Given the description of an element on the screen output the (x, y) to click on. 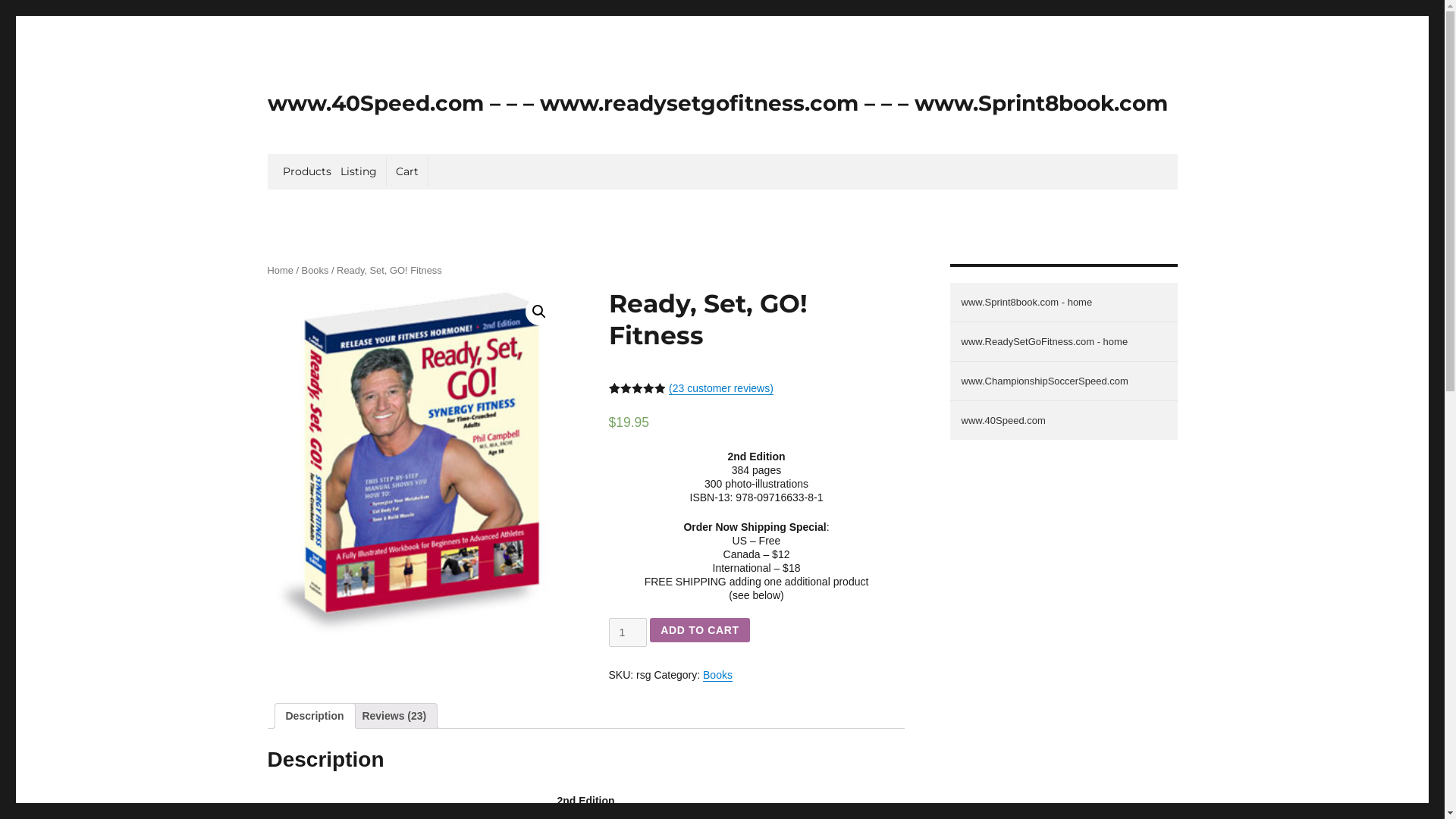
Books Element type: text (717, 674)
A.RSG_cover_web Element type: hover (414, 462)
Books Element type: text (315, 270)
(23 customer reviews) Element type: text (720, 388)
www.Sprint8book.com - home Element type: text (1062, 302)
Cart Element type: text (407, 171)
Reviews (23) Element type: text (393, 715)
ADD TO CART Element type: text (699, 629)
www.ReadySetGoFitness.com - home Element type: text (1062, 341)
www.40Speed.com Element type: text (1062, 420)
Home Element type: text (279, 270)
Products   Listing Element type: text (329, 171)
Description Element type: text (314, 715)
www.ChampionshipSoccerSpeed.com Element type: text (1062, 381)
